Given the description of an element on the screen output the (x, y) to click on. 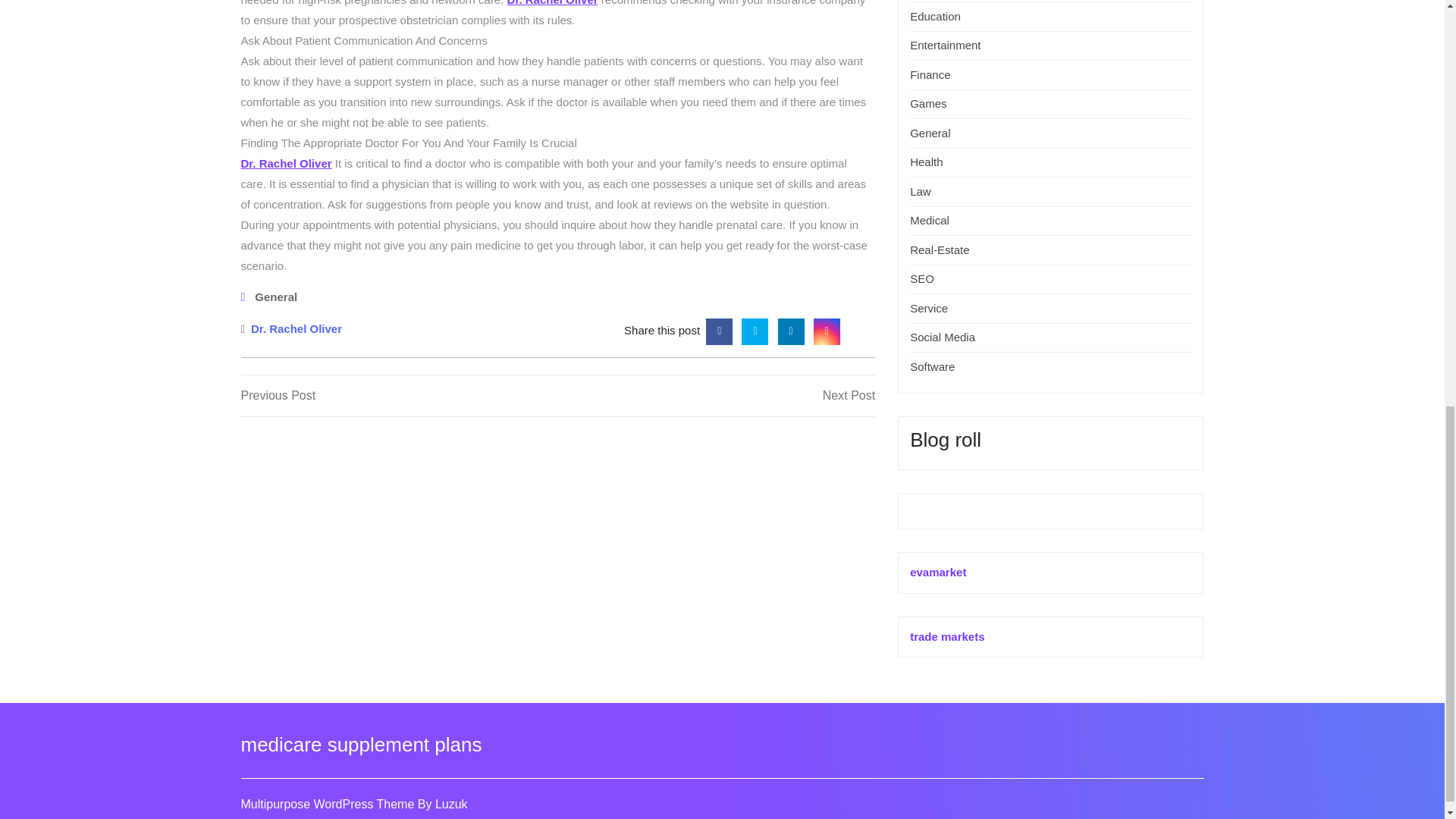
Games (928, 103)
Education (935, 15)
Twitter (754, 328)
SEO (922, 278)
Dr. Rachel Oliver (296, 328)
Finance (716, 395)
Service (399, 395)
General (930, 74)
Instagram (928, 308)
Facebook (275, 296)
Real-Estate (826, 328)
Dr. Rachel Oliver (719, 328)
Law (939, 249)
